Given the description of an element on the screen output the (x, y) to click on. 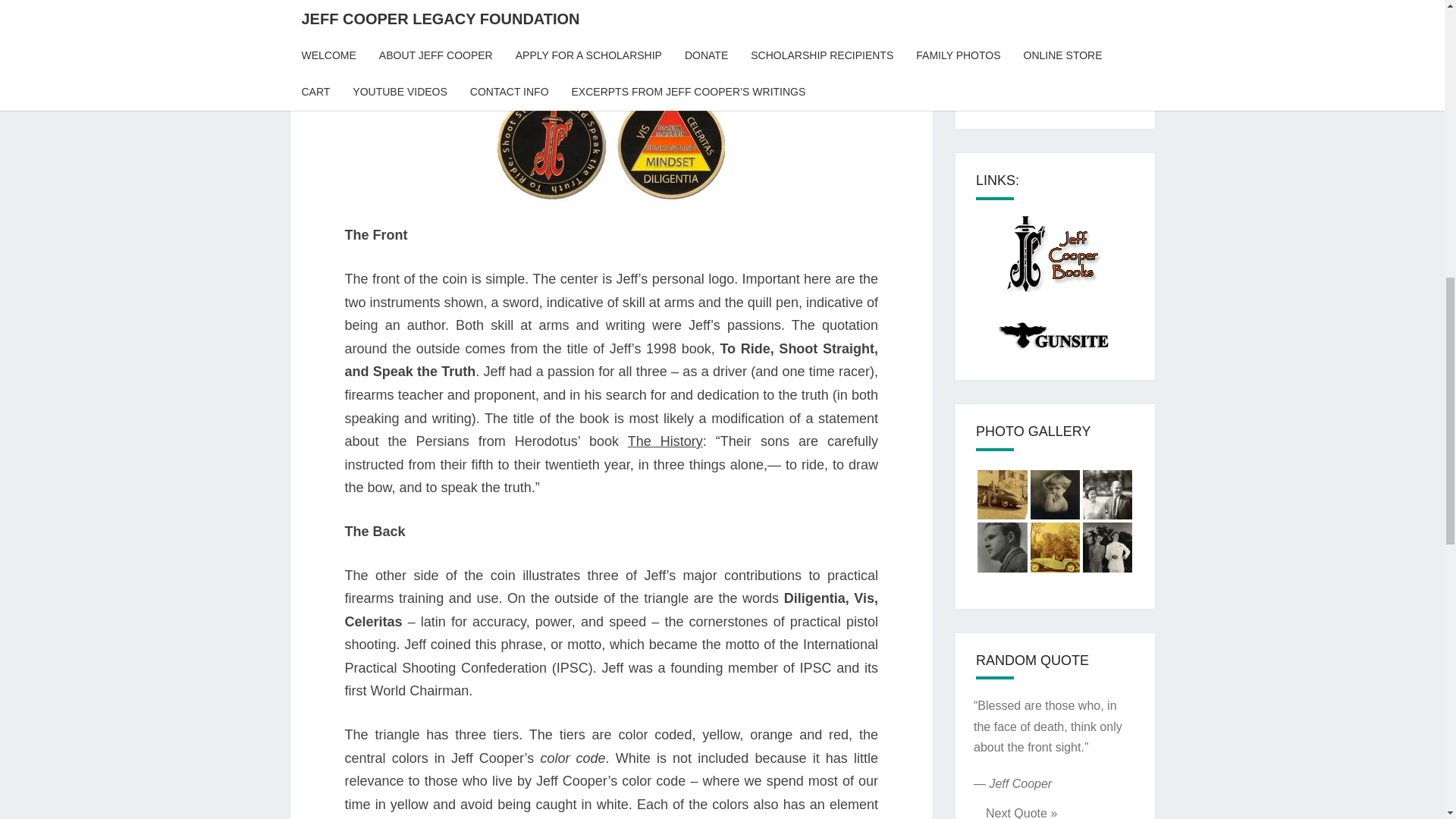
Driving this little car around Washington was fun. (1054, 546)
Jeff's first Porsche. (1001, 494)
